Given the description of an element on the screen output the (x, y) to click on. 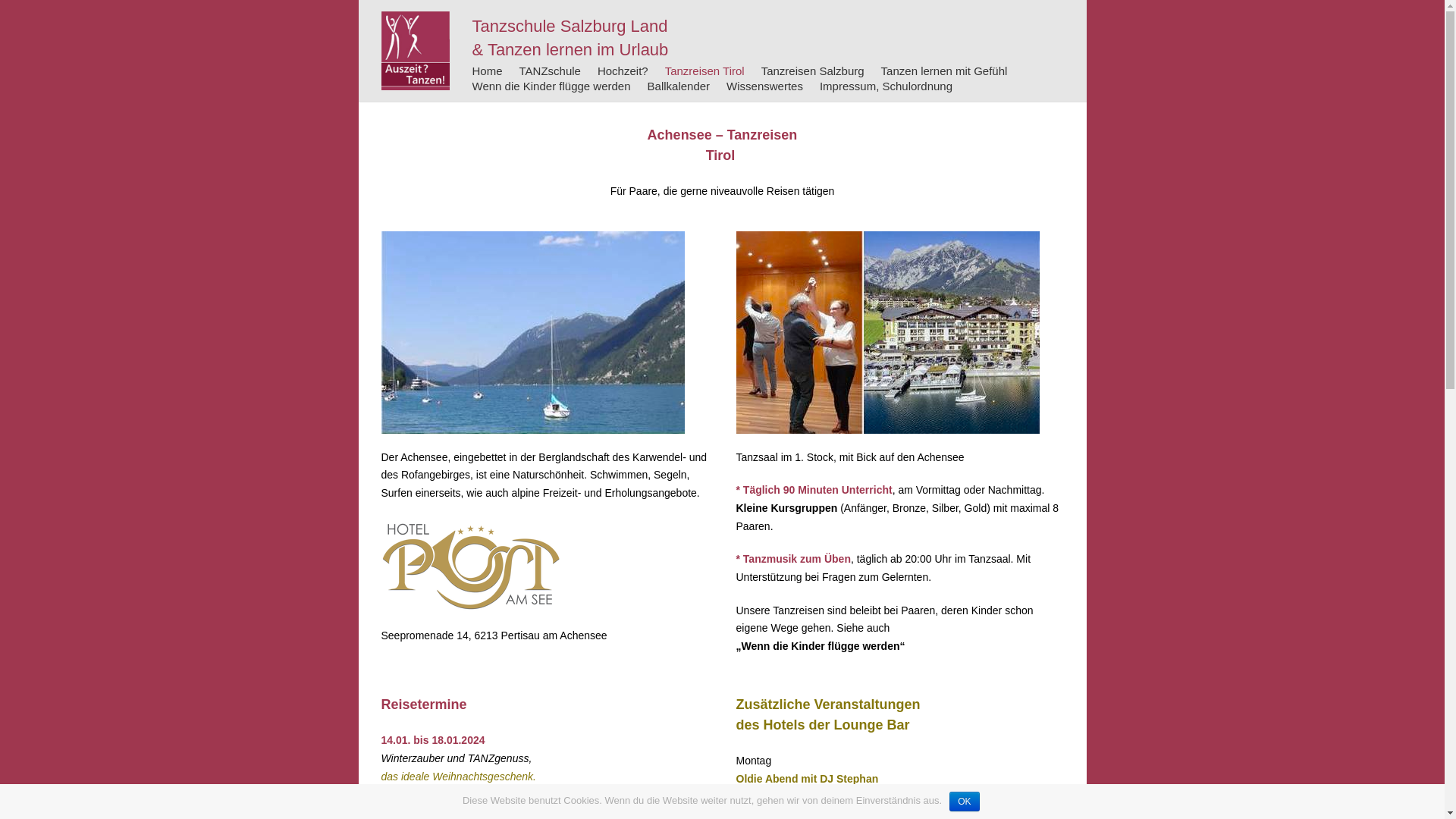
Tanzreisen Salzburg Element type: text (812, 70)
Ballkalender Element type: text (678, 86)
Hochzeit? Element type: text (622, 70)
Impressum, Schulordnung Element type: text (885, 86)
Wissenswertes Element type: text (764, 86)
OK Element type: text (964, 801)
Home Element type: text (486, 70)
TANZschule Element type: text (549, 70)
Tanzreisen Tirol Element type: text (704, 70)
